Given the description of an element on the screen output the (x, y) to click on. 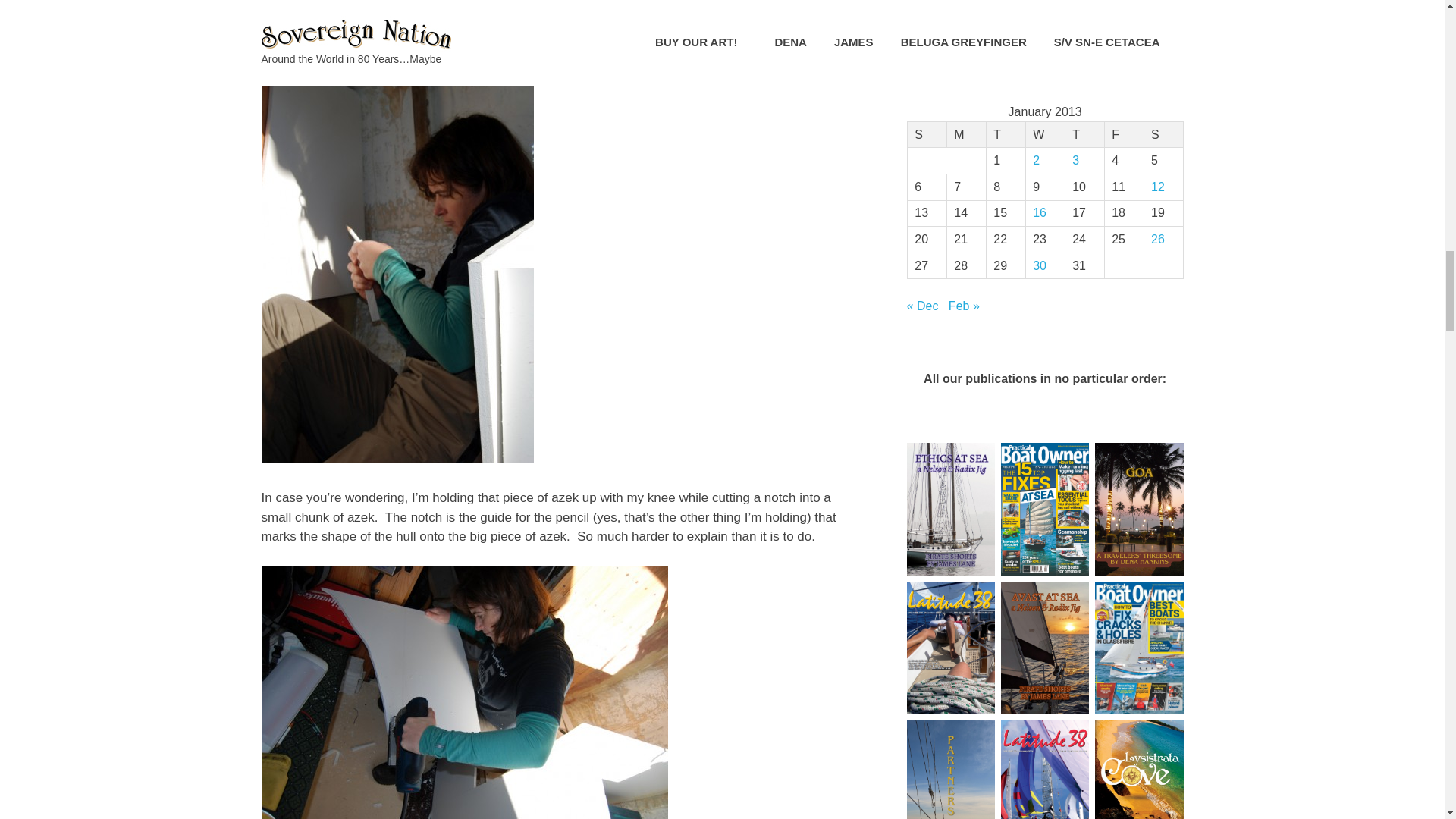
TheCut (463, 692)
